Given the description of an element on the screen output the (x, y) to click on. 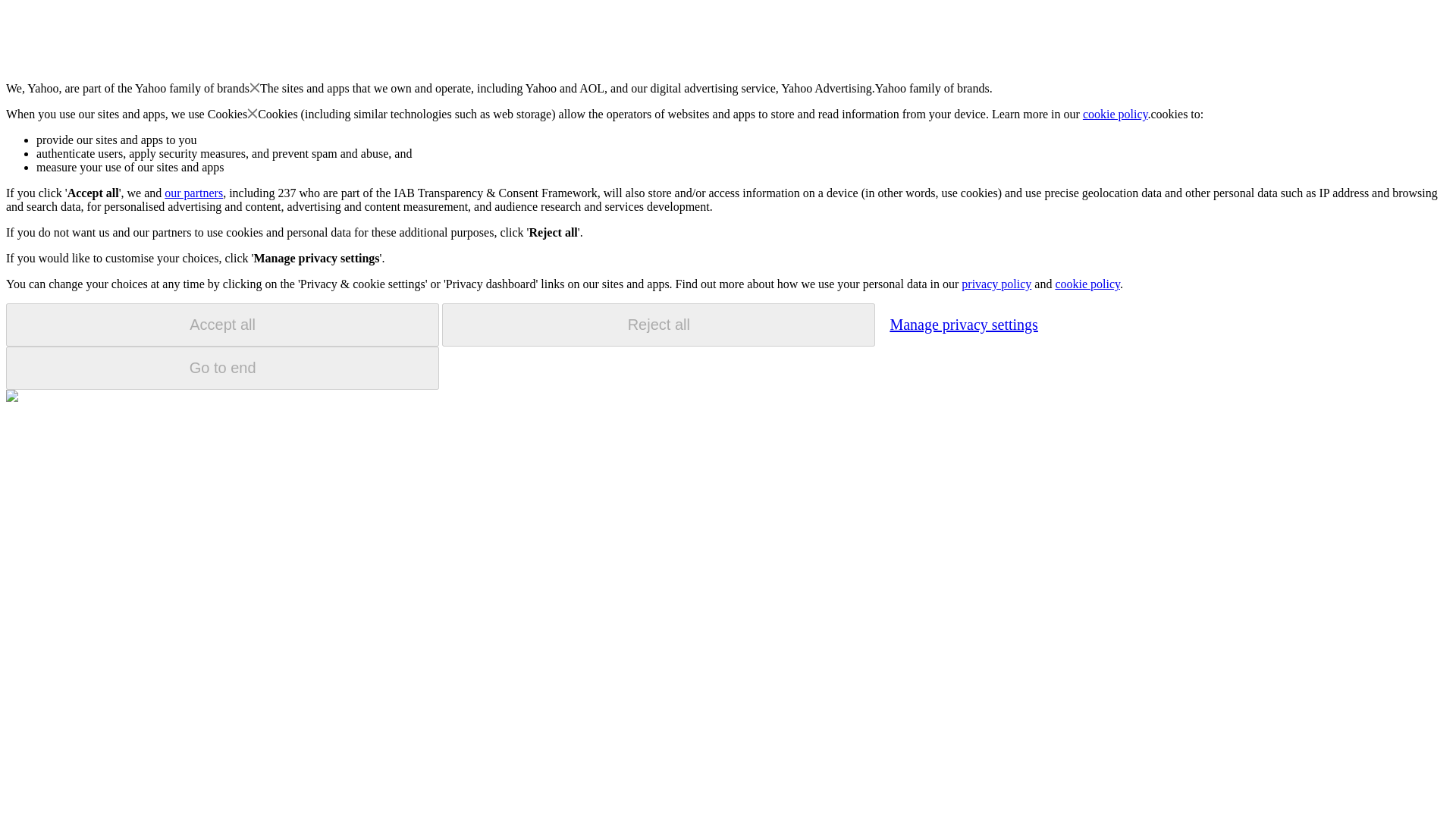
Accept all (222, 324)
cookie policy (1115, 113)
Manage privacy settings (963, 323)
privacy policy (995, 283)
Reject all (658, 324)
Go to end (222, 367)
cookie policy (1086, 283)
our partners (193, 192)
